Given the description of an element on the screen output the (x, y) to click on. 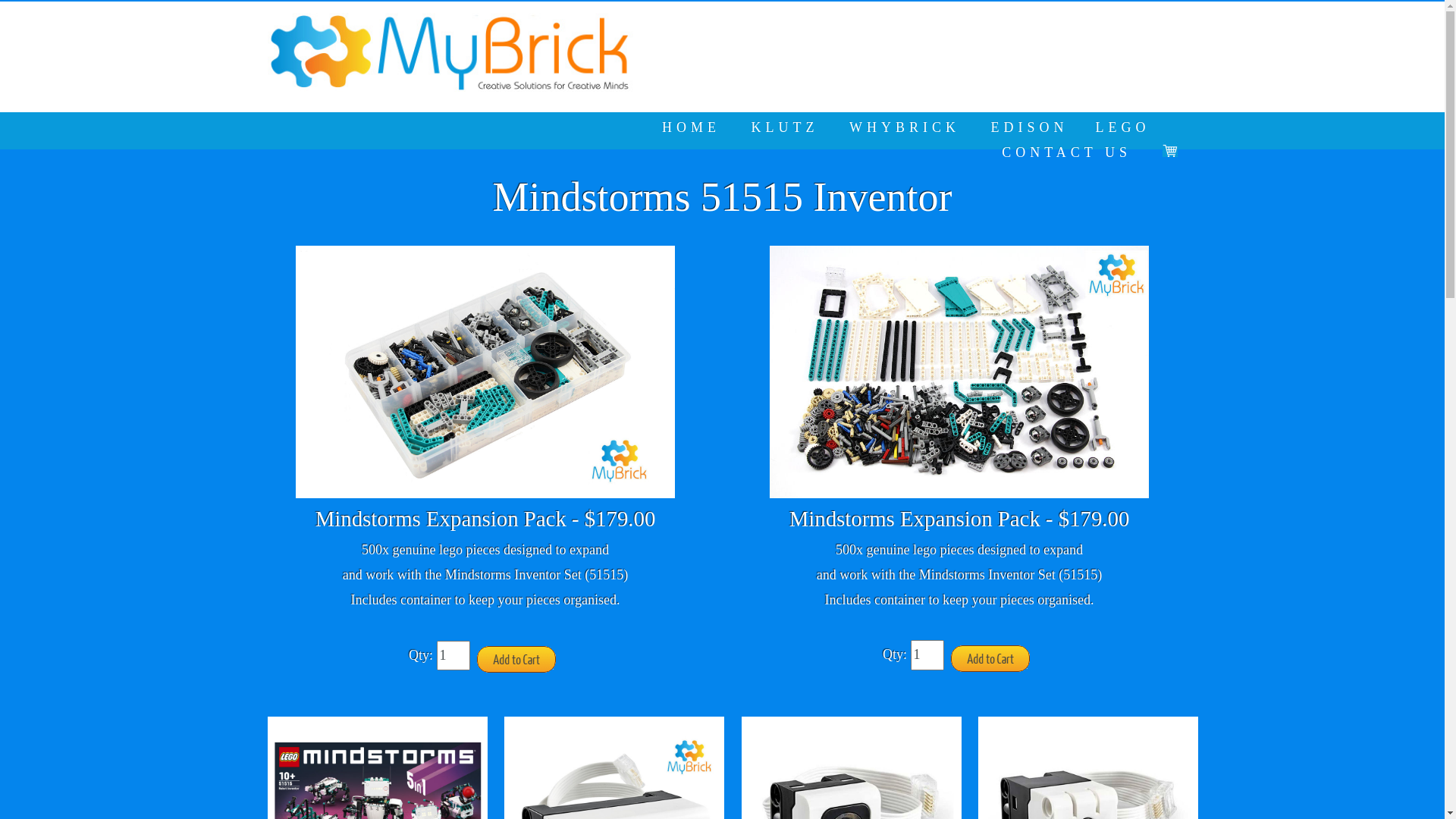
CONTACT US Element type: text (1066, 152)
WHYBRICK Element type: text (904, 127)
EDISON Element type: text (1028, 127)
LEGO Element type: text (1122, 127)
HOME Element type: text (691, 127)
KLUTZ Element type: text (785, 127)
